Given the description of an element on the screen output the (x, y) to click on. 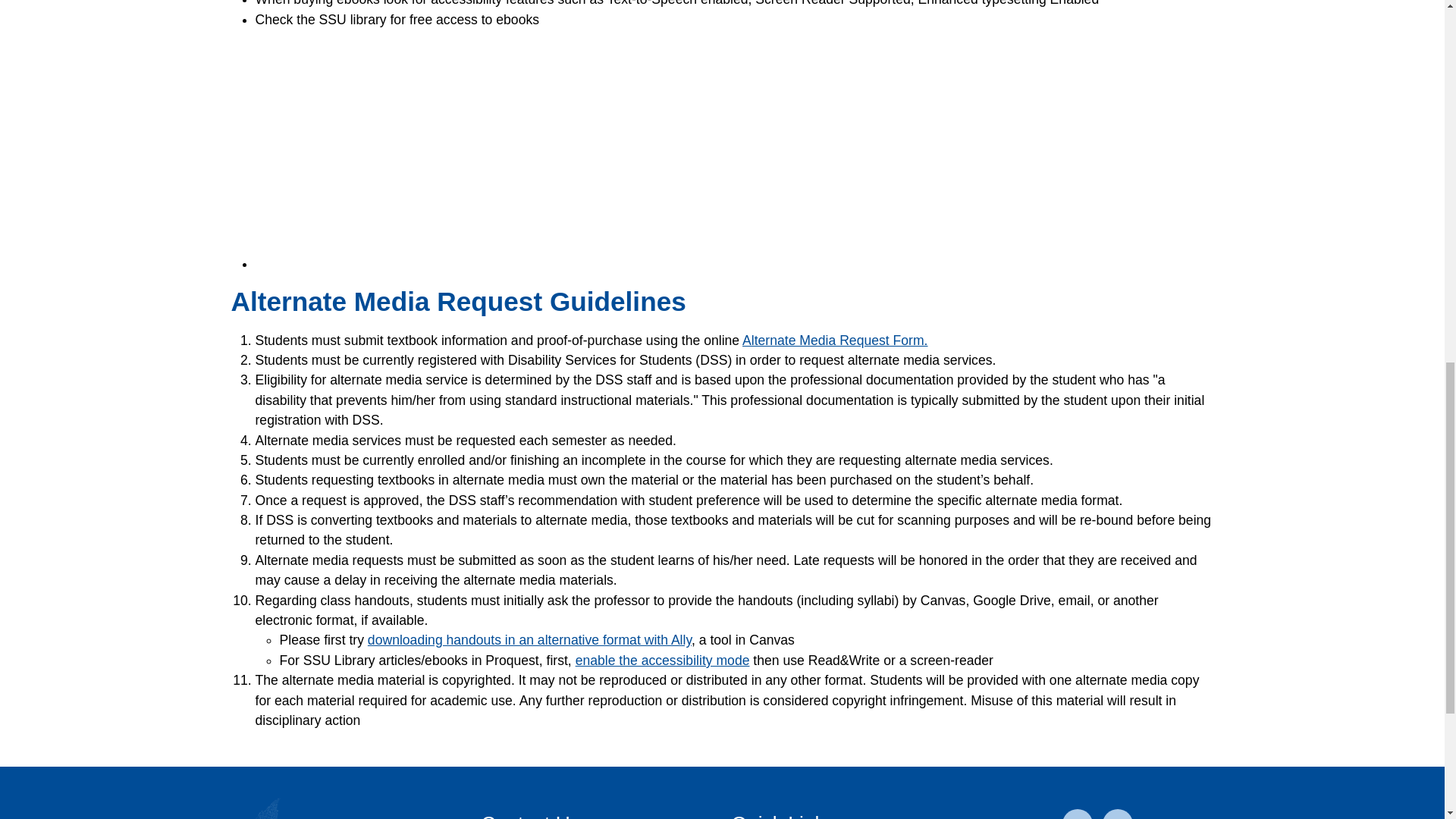
X - Twitter (1077, 814)
Instagram (1117, 814)
Purchasing Digital Textbooks on VitalSmart (466, 148)
